Given the description of an element on the screen output the (x, y) to click on. 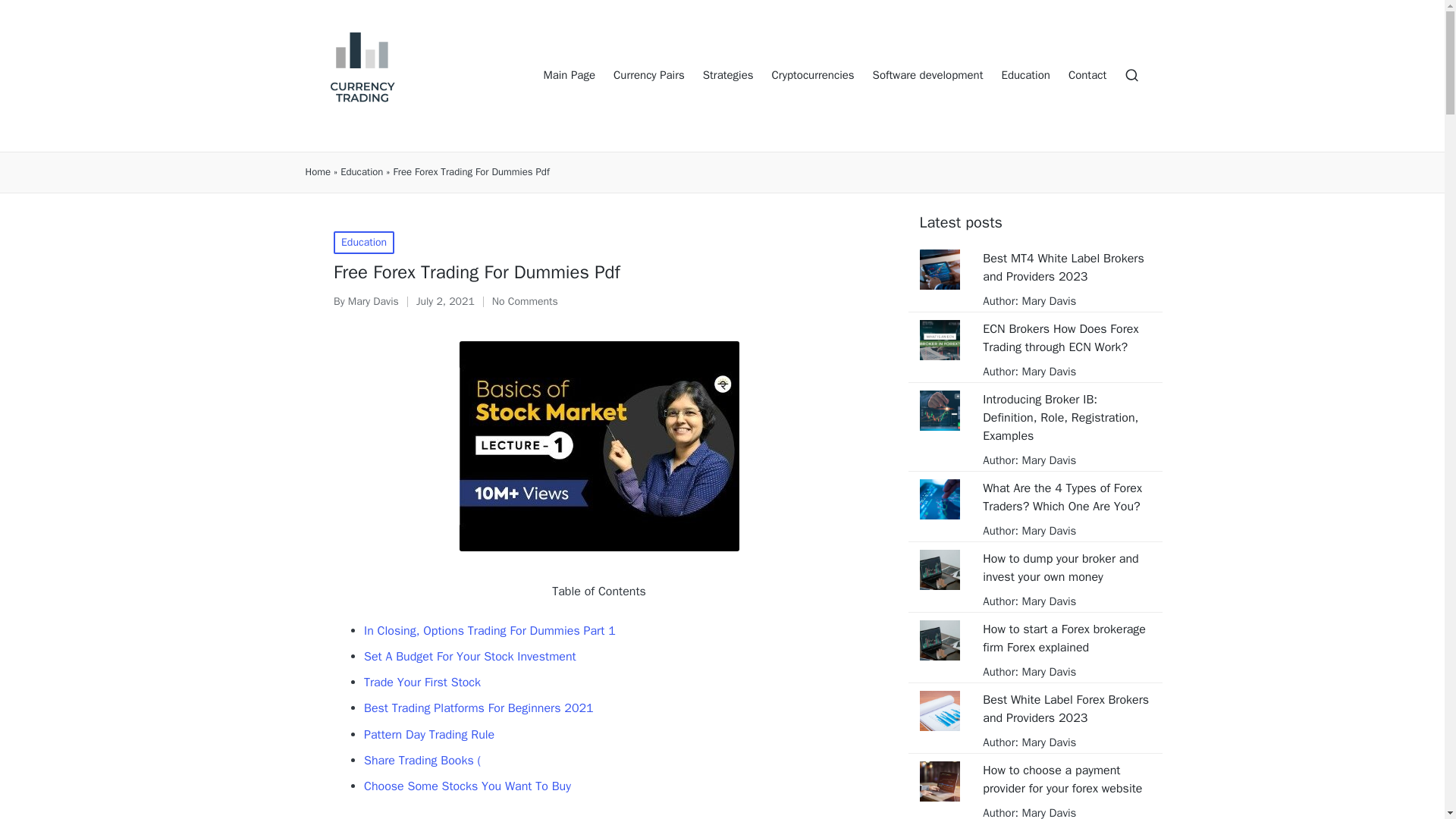
Mary Davis (1046, 371)
Cryptocurrencies (812, 75)
Software development (928, 75)
Mary Davis (1046, 459)
Pattern Day Trading Rule (429, 734)
Education (1025, 75)
Education (363, 241)
ECN Brokers How Does Forex Trading through ECN Work? (1066, 338)
No Comments (524, 301)
Best MT4 White Label Brokers and Providers 2023 (1066, 267)
Main Page (569, 75)
Strategies (728, 75)
In Closing, Options Trading For Dummies Part 1 (489, 630)
Home (317, 171)
